Given the description of an element on the screen output the (x, y) to click on. 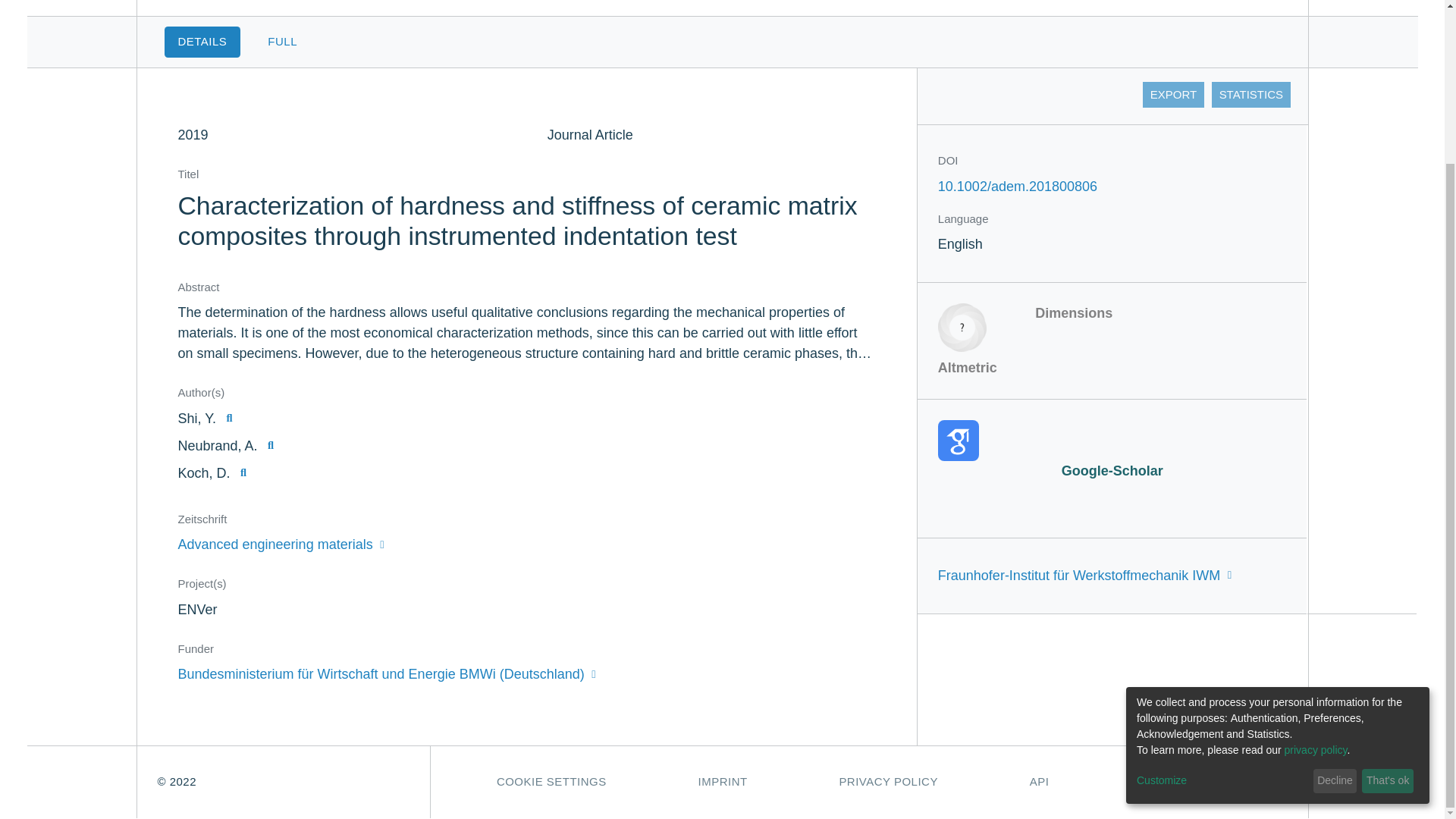
PRIVACY POLICY (888, 781)
FULL (282, 41)
Google-Scholar (1112, 450)
Advanced engineering materials (280, 544)
Customize (1222, 587)
STATISTICS (1250, 94)
That's ok (1387, 587)
EXPORT (1173, 94)
privacy policy (1316, 556)
Details (201, 41)
Decline (1334, 587)
DETAILS (201, 41)
API (1039, 781)
Full (282, 41)
COOKIE SETTINGS (550, 781)
